Given the description of an element on the screen output the (x, y) to click on. 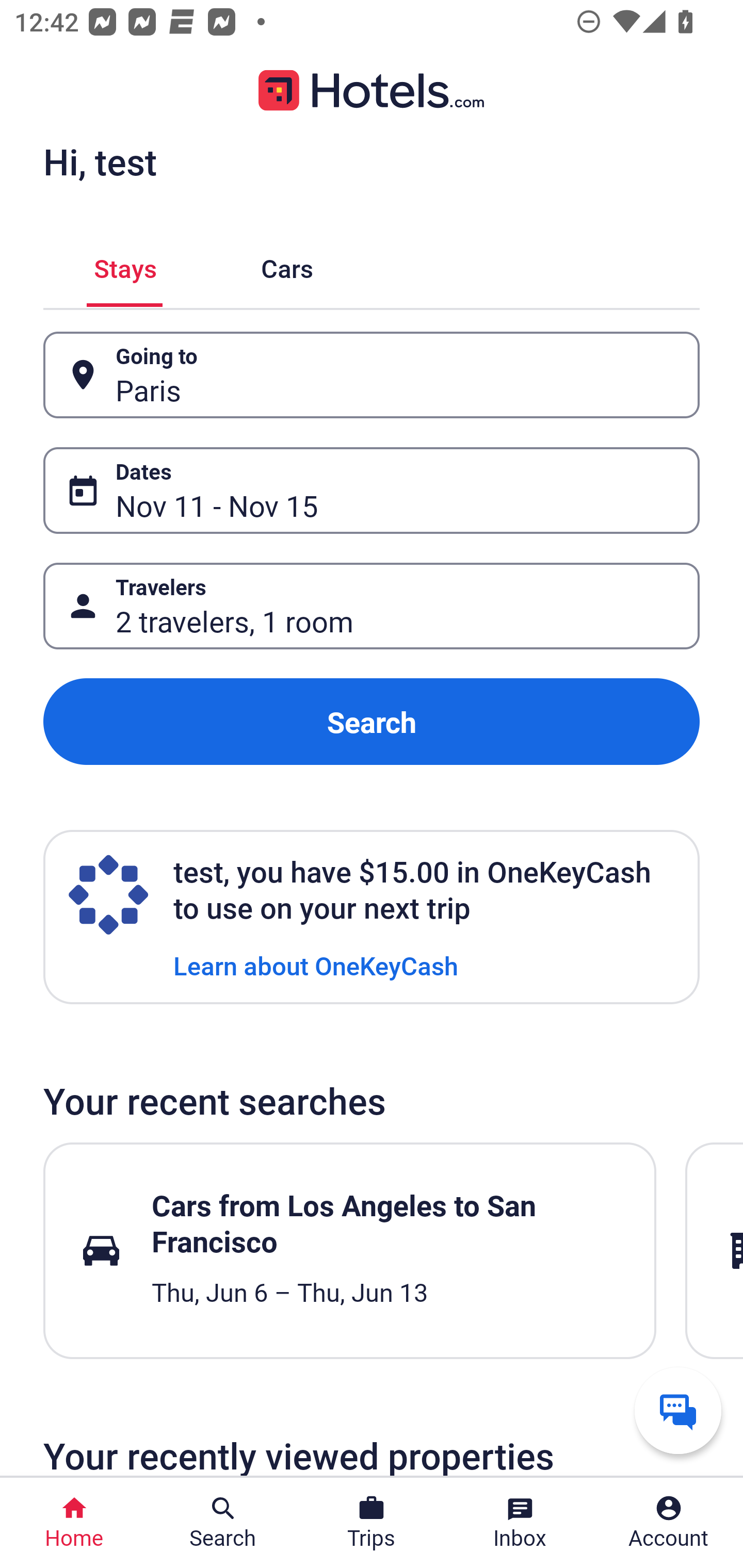
Hi, test (99, 161)
Cars (286, 265)
Going to Button Paris (371, 375)
Dates Button Nov 11 - Nov 15 (371, 489)
Travelers Button 2 travelers, 1 room (371, 605)
Search (371, 721)
Learn about OneKeyCash Learn about OneKeyCash Link (315, 964)
Get help from a virtual agent (677, 1410)
Search Search Button (222, 1522)
Trips Trips Button (371, 1522)
Inbox Inbox Button (519, 1522)
Account Profile. Button (668, 1522)
